Given the description of an element on the screen output the (x, y) to click on. 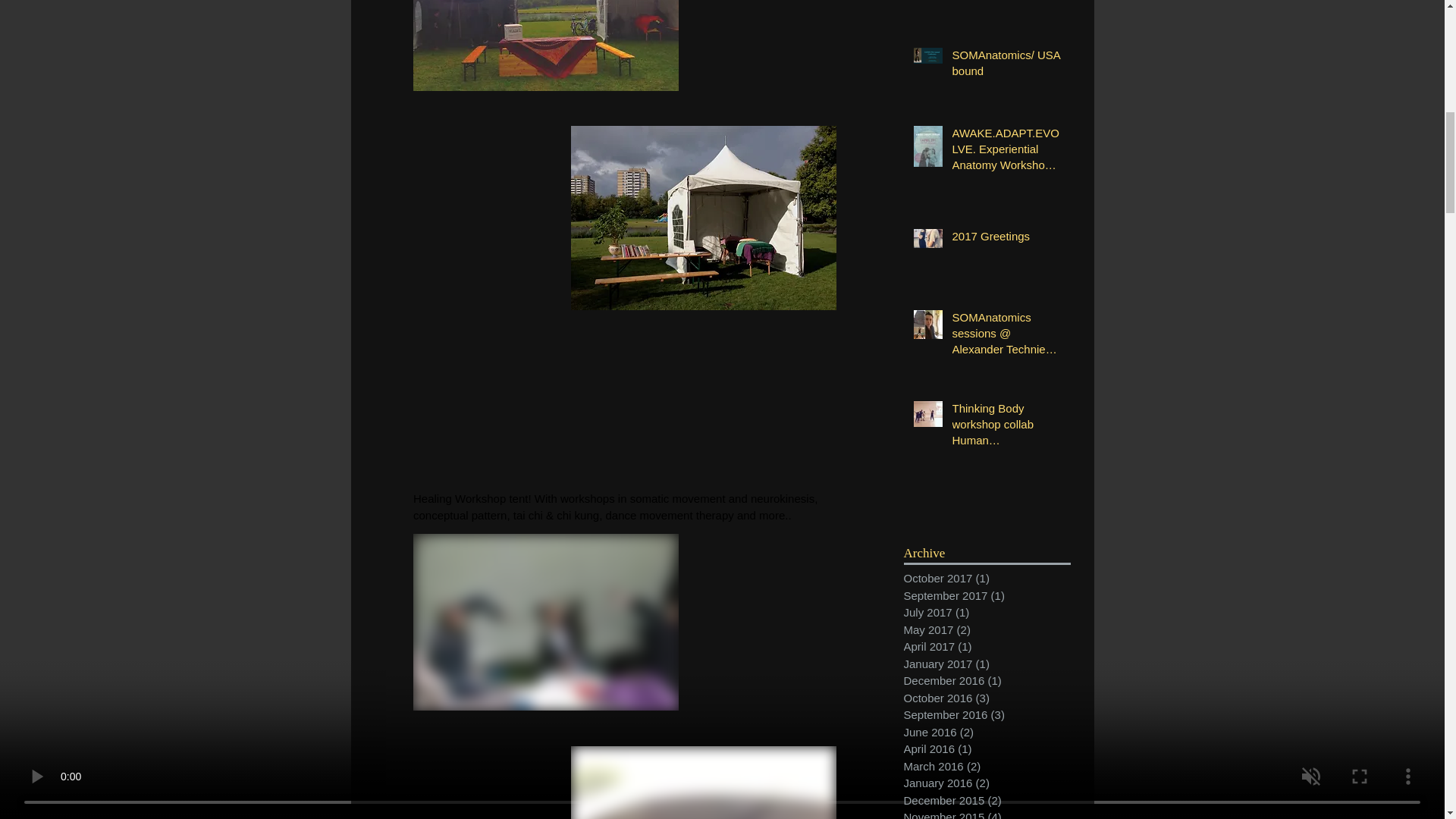
Thinking Body workshop collab Human Consciousness-DIS (1006, 427)
2017 Greetings (1006, 239)
AWAKE.ADAPT.EVOLVE. Experiential Anatomy Workshop series (1006, 152)
